Given the description of an element on the screen output the (x, y) to click on. 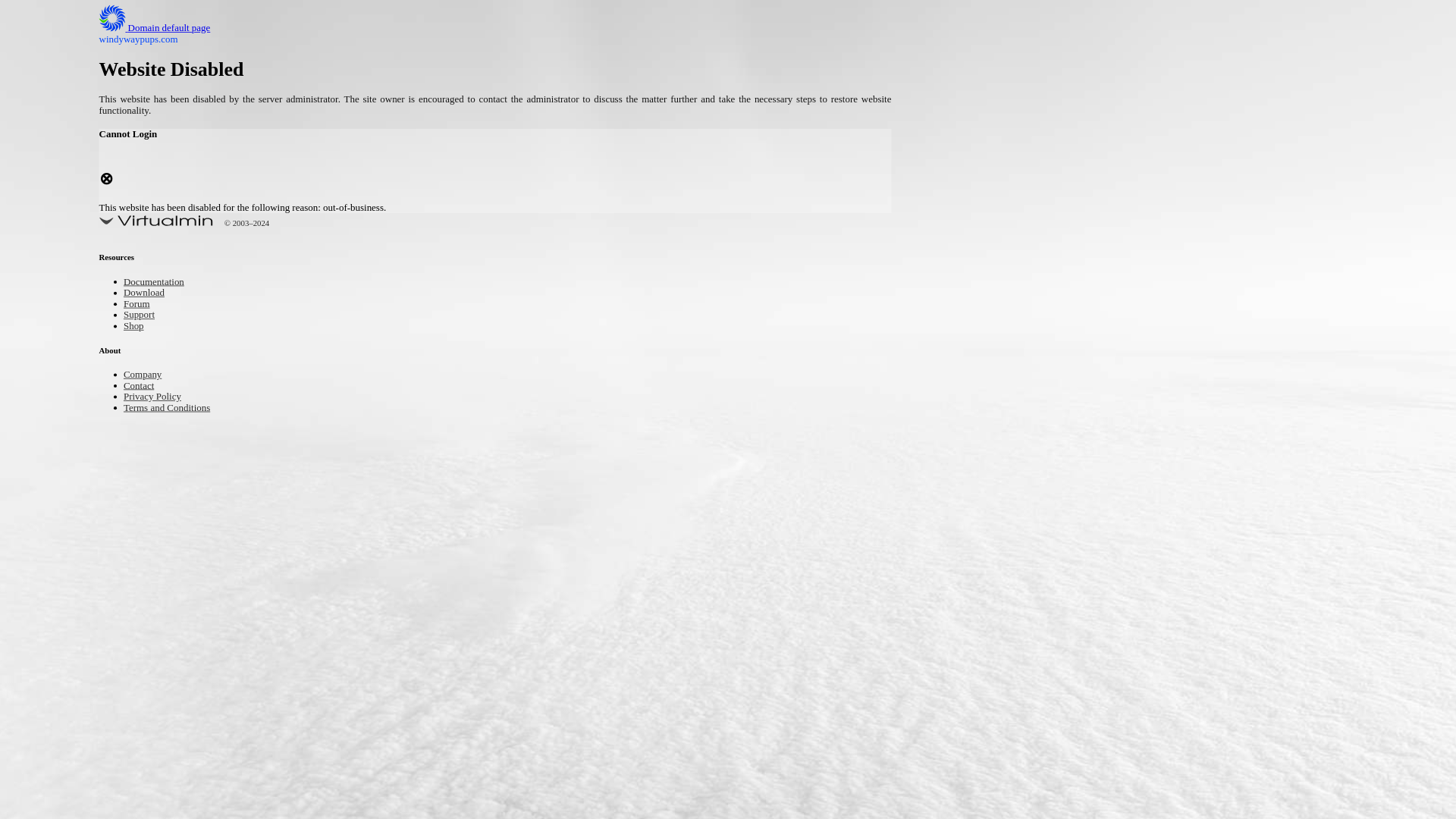
Contact (142, 386)
Shop (135, 327)
Terms and Conditions (176, 408)
Download (148, 293)
Forum (139, 305)
Domain default page (167, 29)
Company (146, 374)
Privacy Policy (159, 397)
Documentation (160, 282)
Support (142, 315)
